Given the description of an element on the screen output the (x, y) to click on. 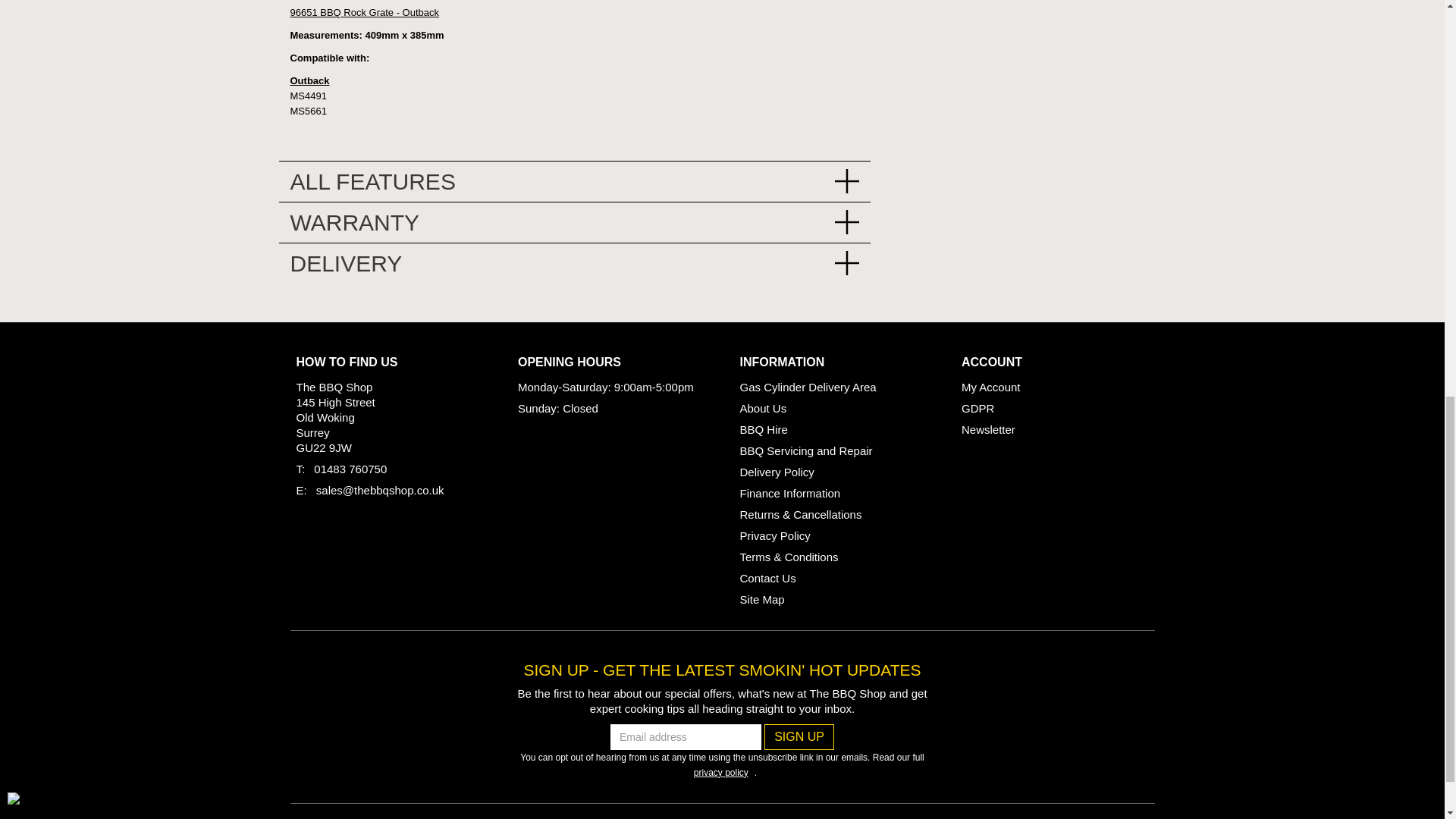
Sign up (799, 736)
